Given the description of an element on the screen output the (x, y) to click on. 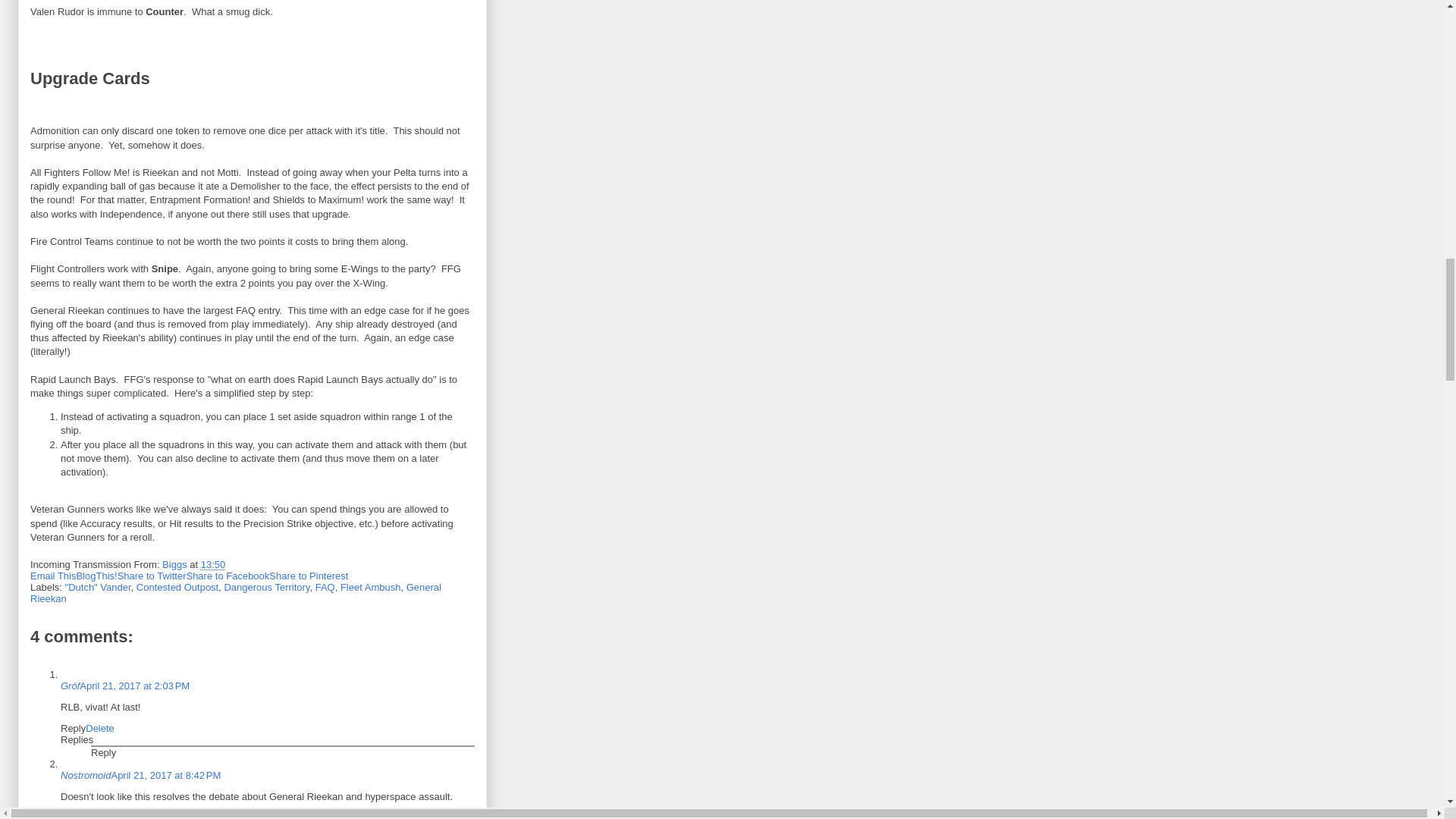
13:50 (212, 564)
Email This (52, 575)
Share to Facebook (227, 575)
Share to Twitter (151, 575)
Dangerous Territory (266, 586)
BlogThis! (95, 575)
Share to Pinterest (308, 575)
BlogThis! (95, 575)
author profile (175, 564)
Delete (100, 727)
General Rieekan (235, 592)
Share to Pinterest (308, 575)
Biggs (175, 564)
FAQ (324, 586)
Nostromoid (85, 775)
